Given the description of an element on the screen output the (x, y) to click on. 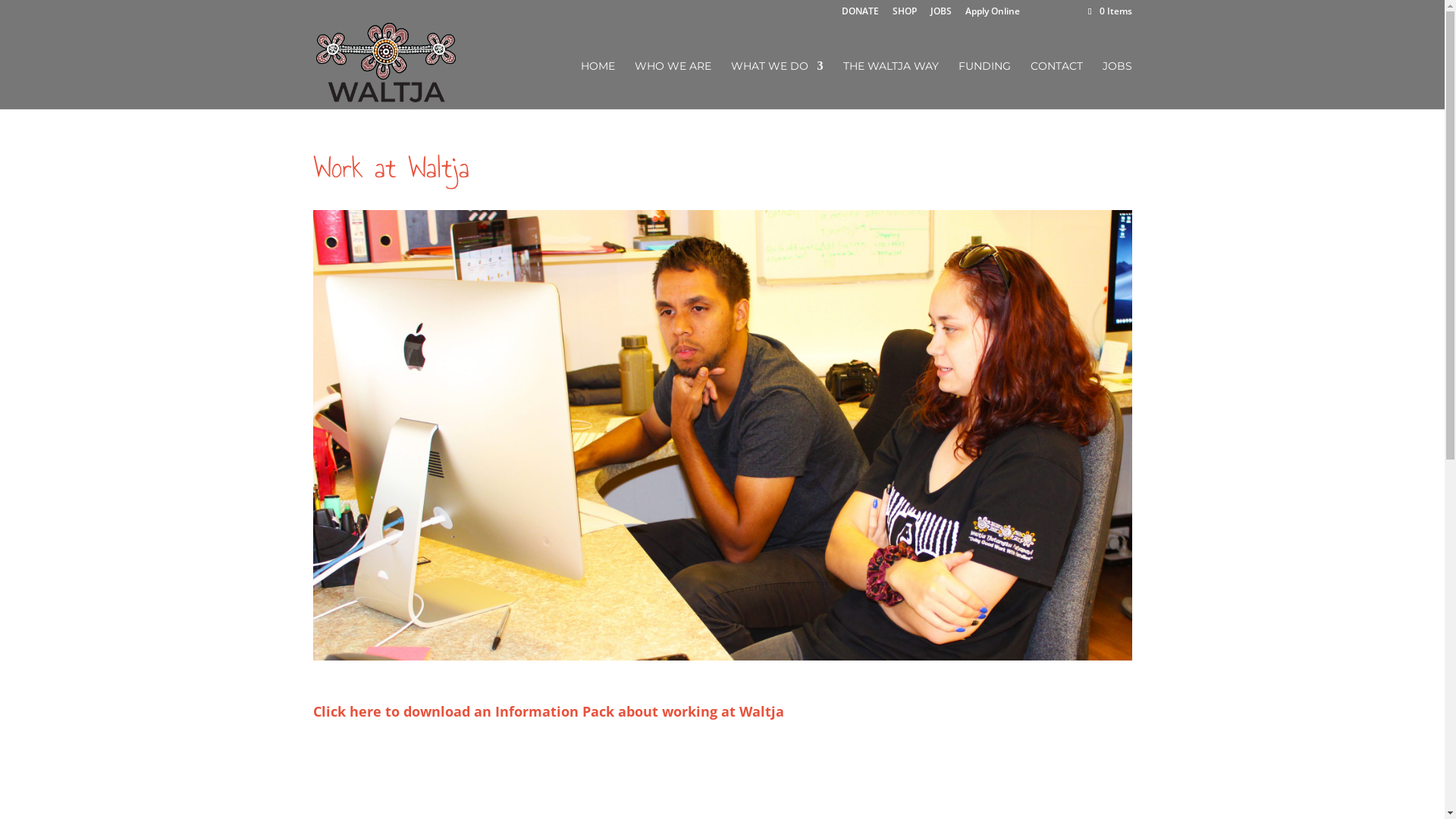
SHOP Element type: text (904, 14)
JOBS Element type: text (940, 14)
WHO WE ARE Element type: text (671, 84)
Apply Online Element type: text (992, 14)
FUNDING Element type: text (984, 84)
JOBS Element type: text (1117, 84)
IMG_3300 Element type: hover (721, 435)
DONATE Element type: text (859, 14)
HOME Element type: text (597, 84)
CONTACT Element type: text (1055, 84)
0 Items Element type: text (1108, 10)
THE WALTJA WAY Element type: text (890, 84)
WHAT WE DO Element type: text (777, 84)
